Given the description of an element on the screen output the (x, y) to click on. 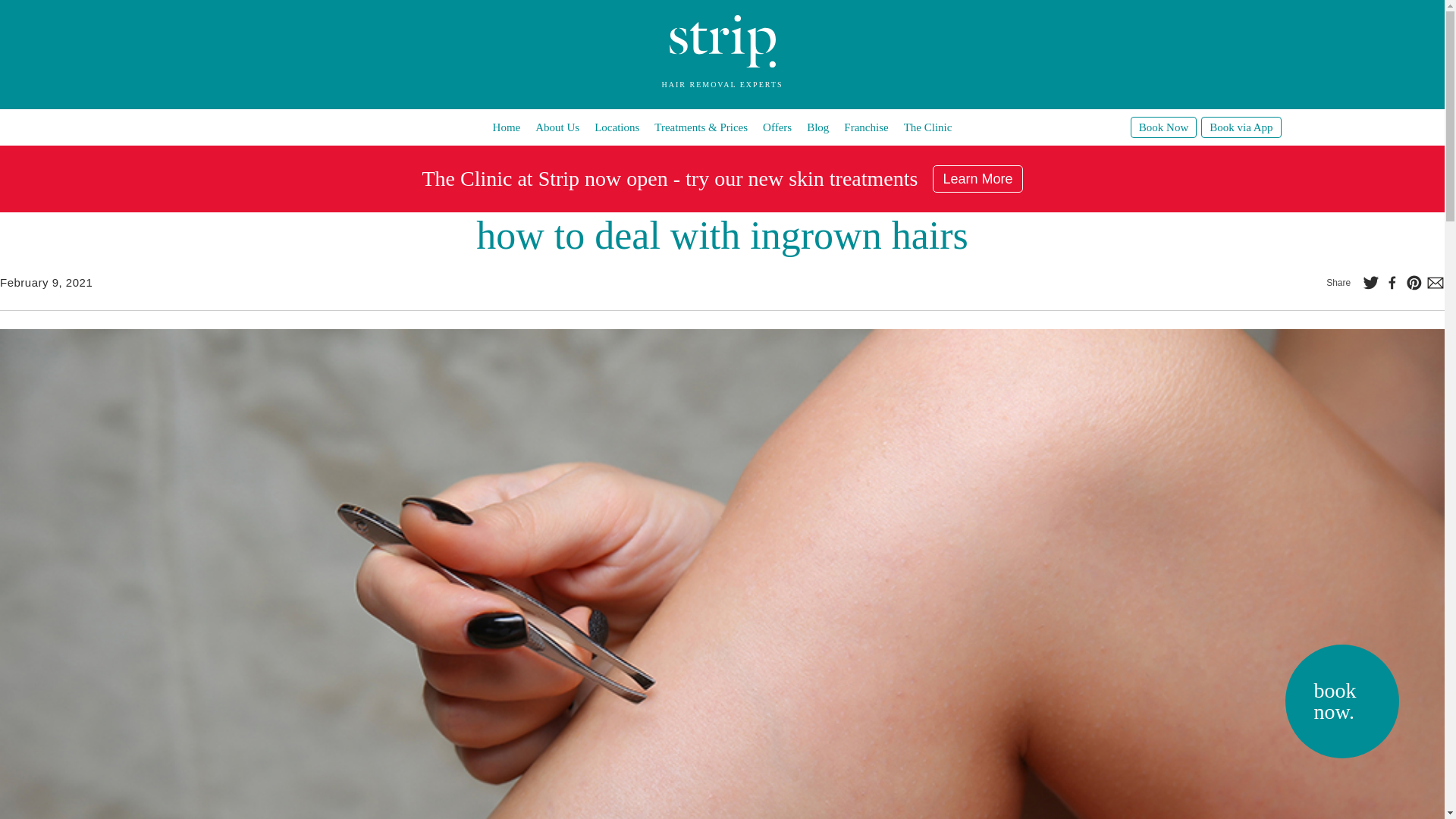
Book Now (1163, 127)
The Clinic (928, 126)
Locations (616, 126)
Book via App (1241, 127)
Blog (817, 126)
About Us (557, 126)
Franchise (866, 126)
Home (507, 126)
HAIR REMOVAL EXPERTS (721, 75)
Offers (777, 126)
